Given the description of an element on the screen output the (x, y) to click on. 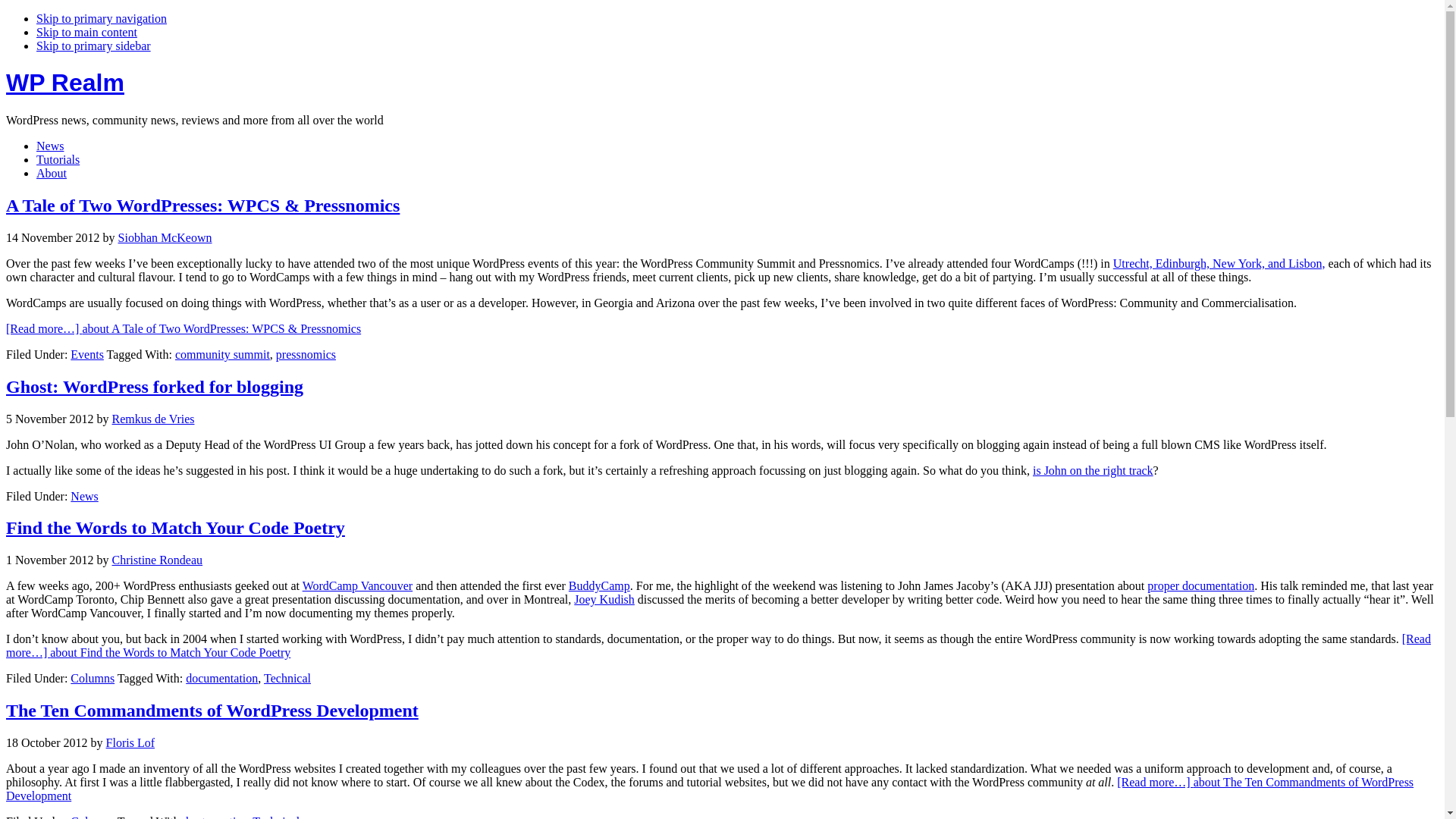
documentation (221, 677)
Events (86, 354)
Skip to main content (86, 31)
About (51, 173)
Technical (275, 816)
WordCamp Vancouver (357, 585)
proper documentation (1200, 585)
Tutorials (58, 159)
Siobhan McKeown (164, 237)
Christine Rondeau (157, 559)
Joey Kudish (603, 599)
best practice (216, 816)
I Attend WordCamps: You Should Too (1218, 263)
News (83, 495)
Floris Lof (130, 742)
